Given the description of an element on the screen output the (x, y) to click on. 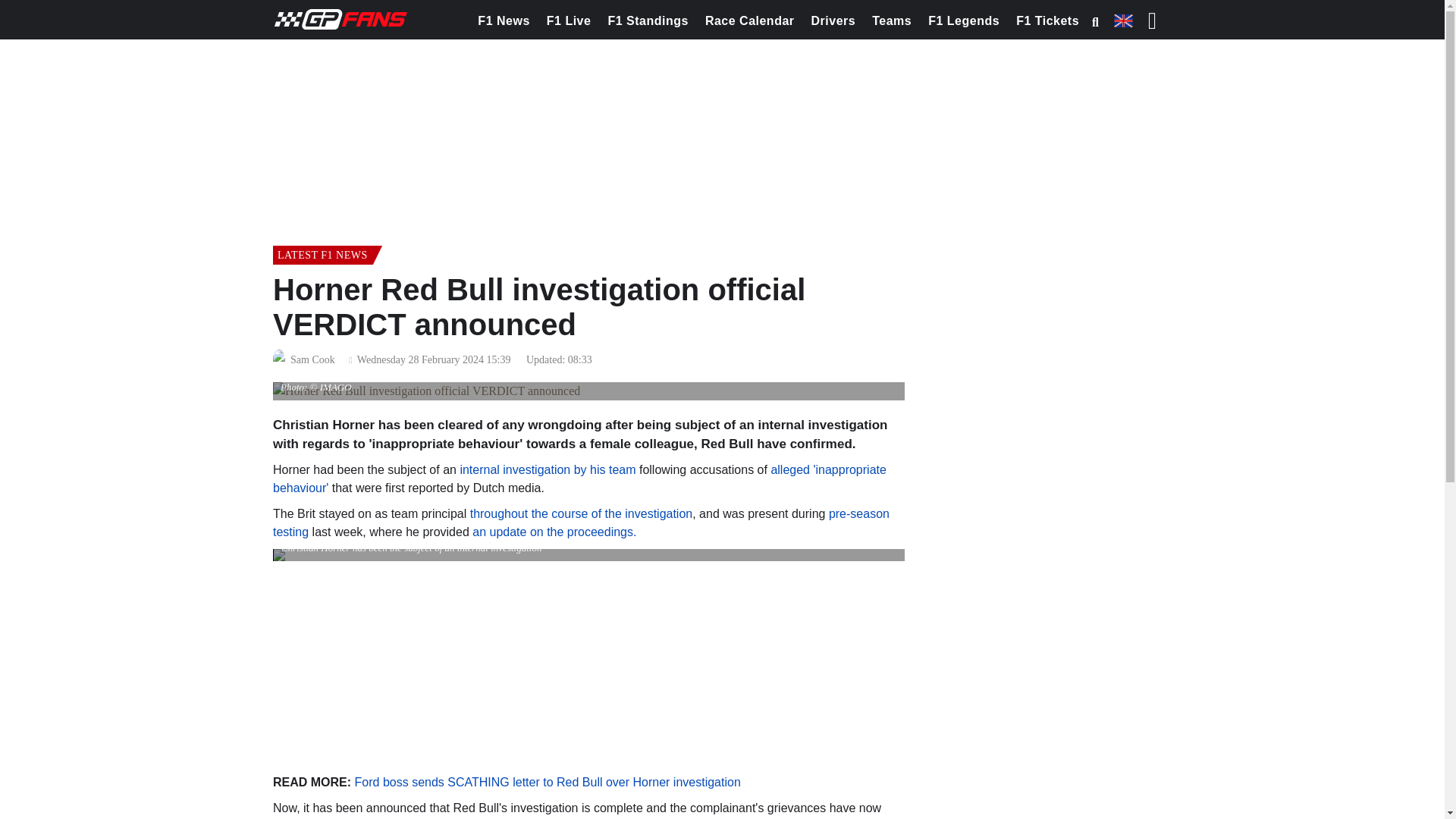
internal investigation by his team (547, 469)
throughout the course of the investigation (581, 513)
Activate search (1095, 22)
an update on the proceedings. (553, 531)
an update on the proceedings. (553, 531)
pre-season testing (581, 522)
F1 Live (568, 21)
Drivers (833, 21)
Race Calendar (749, 21)
throughout the course of the investigation (581, 513)
F1 Tickets (1047, 21)
Teams (891, 21)
alleged 'inappropriate behaviour' (579, 478)
F1 News (502, 21)
